Given the description of an element on the screen output the (x, y) to click on. 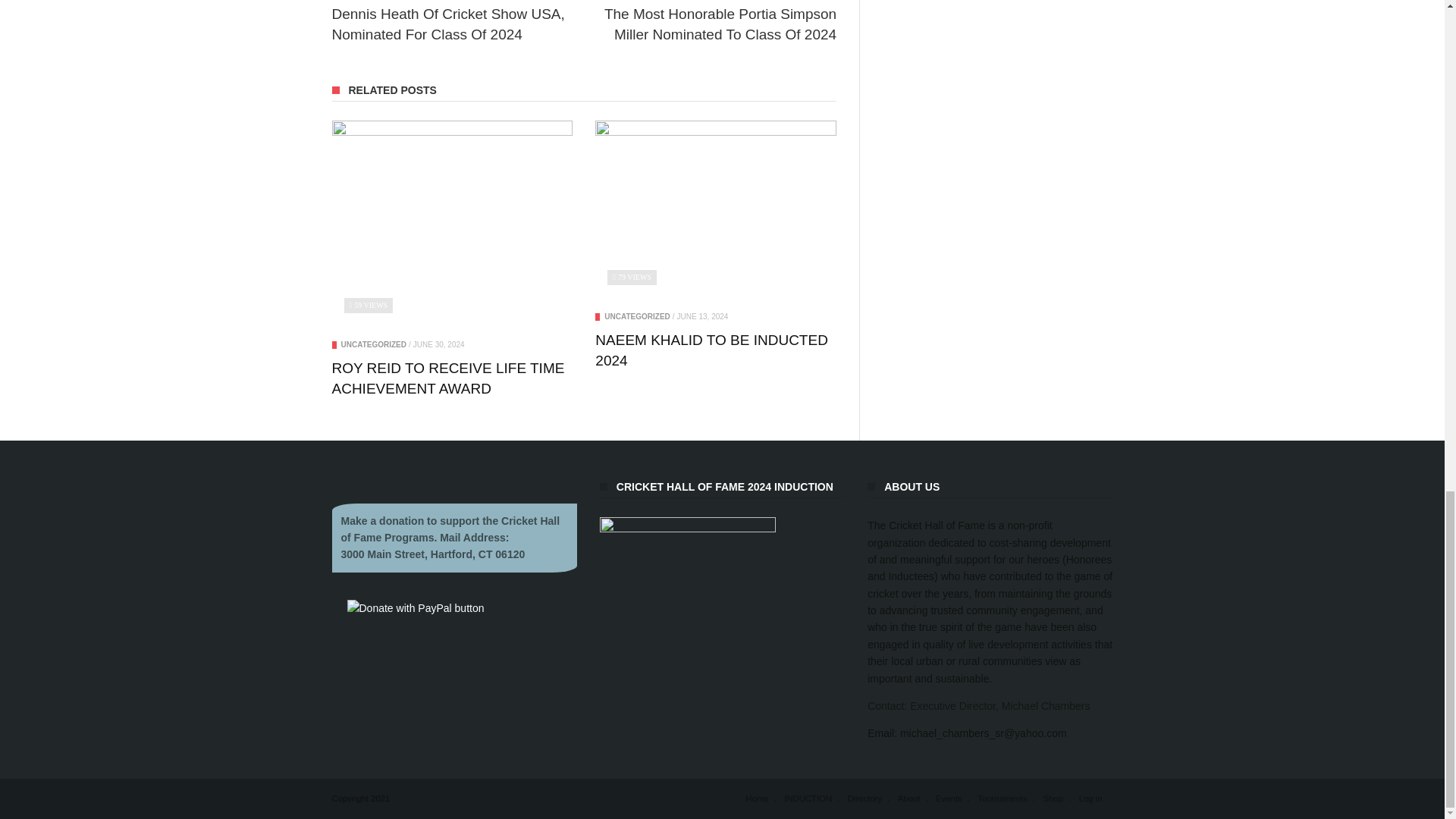
NAEEM KHALID TO BE INDUCTED 2024 (711, 350)
NAEEM KHALID TO BE INDUCTED 2024 (715, 210)
Uncategorized (636, 316)
ROY REID TO RECEIVE LIFE TIME ACHIEVEMENT AWARD (452, 224)
ROY REID TO RECEIVE LIFE TIME ACHIEVEMENT AWARD (447, 378)
Uncategorized (373, 344)
PayPal - The safer, easier way to pay online! (415, 607)
